Given the description of an element on the screen output the (x, y) to click on. 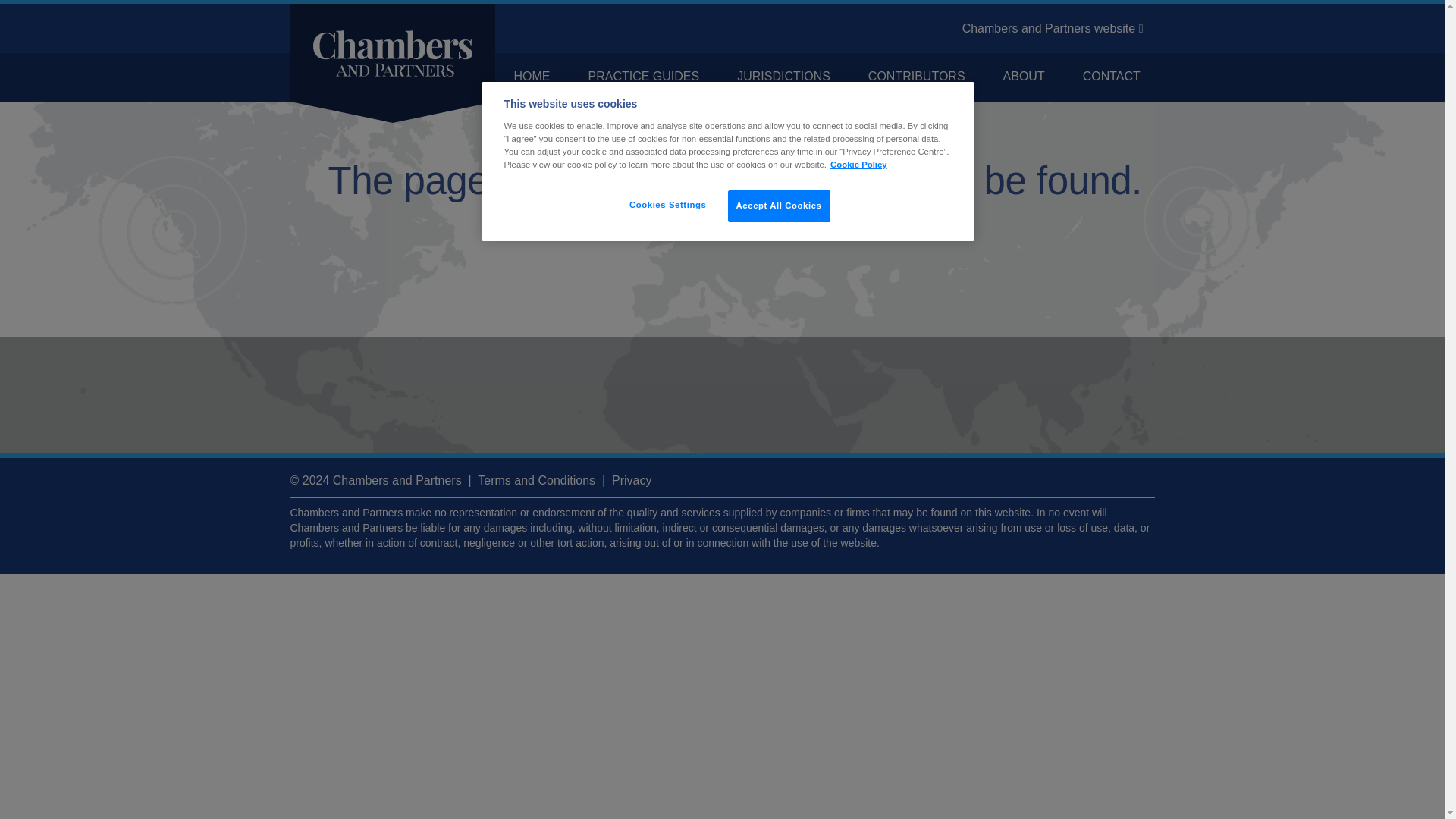
Cookies Settings (667, 205)
ABOUT (1024, 76)
go to Chambers and Partners (1052, 28)
PRACTICE GUIDES (643, 75)
Accept All Cookies (778, 205)
Cookie Policy (857, 163)
JURISDICTIONS (783, 75)
CONTACT (1111, 76)
Privacy (630, 480)
HOME (531, 75)
Terms and Conditions (536, 480)
CONTRIBUTORS (916, 76)
Chambers and Partners website (1052, 28)
